Given the description of an element on the screen output the (x, y) to click on. 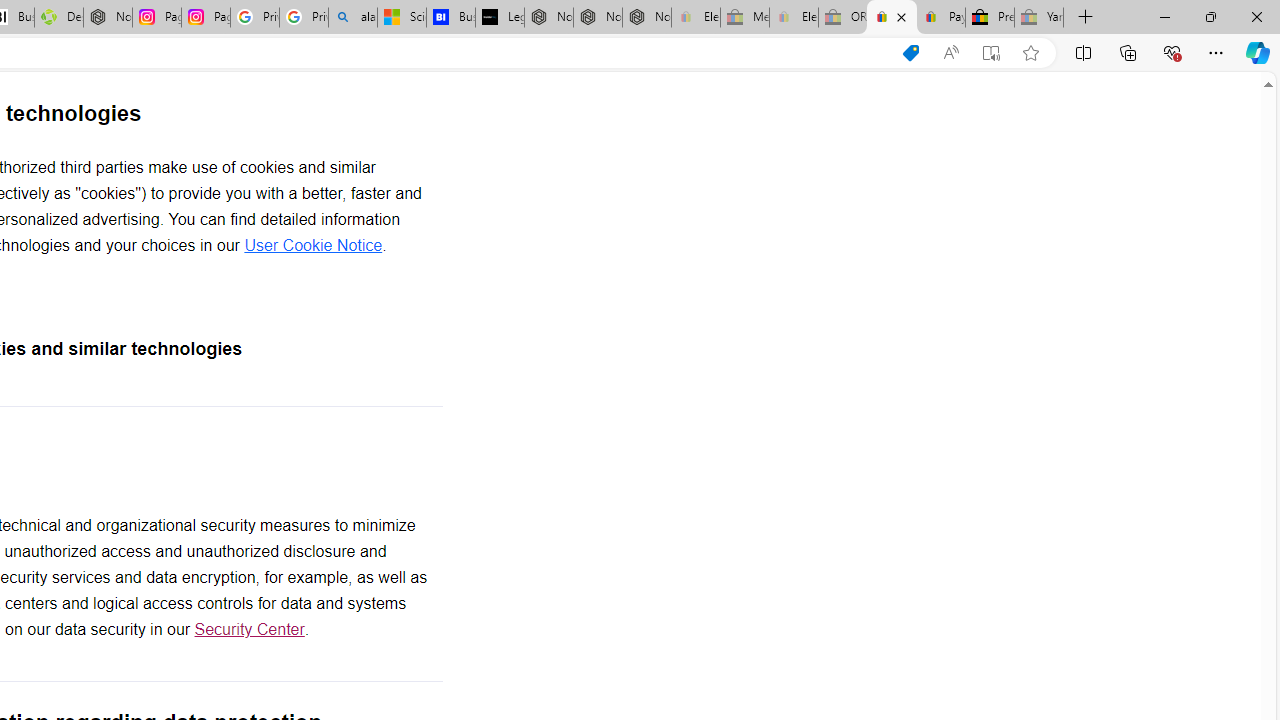
Yard, Garden & Outdoor Living - Sleeping (1039, 17)
Descarga Driver Updater (58, 17)
alabama high school quarterback dies - Search (353, 17)
